Given the description of an element on the screen output the (x, y) to click on. 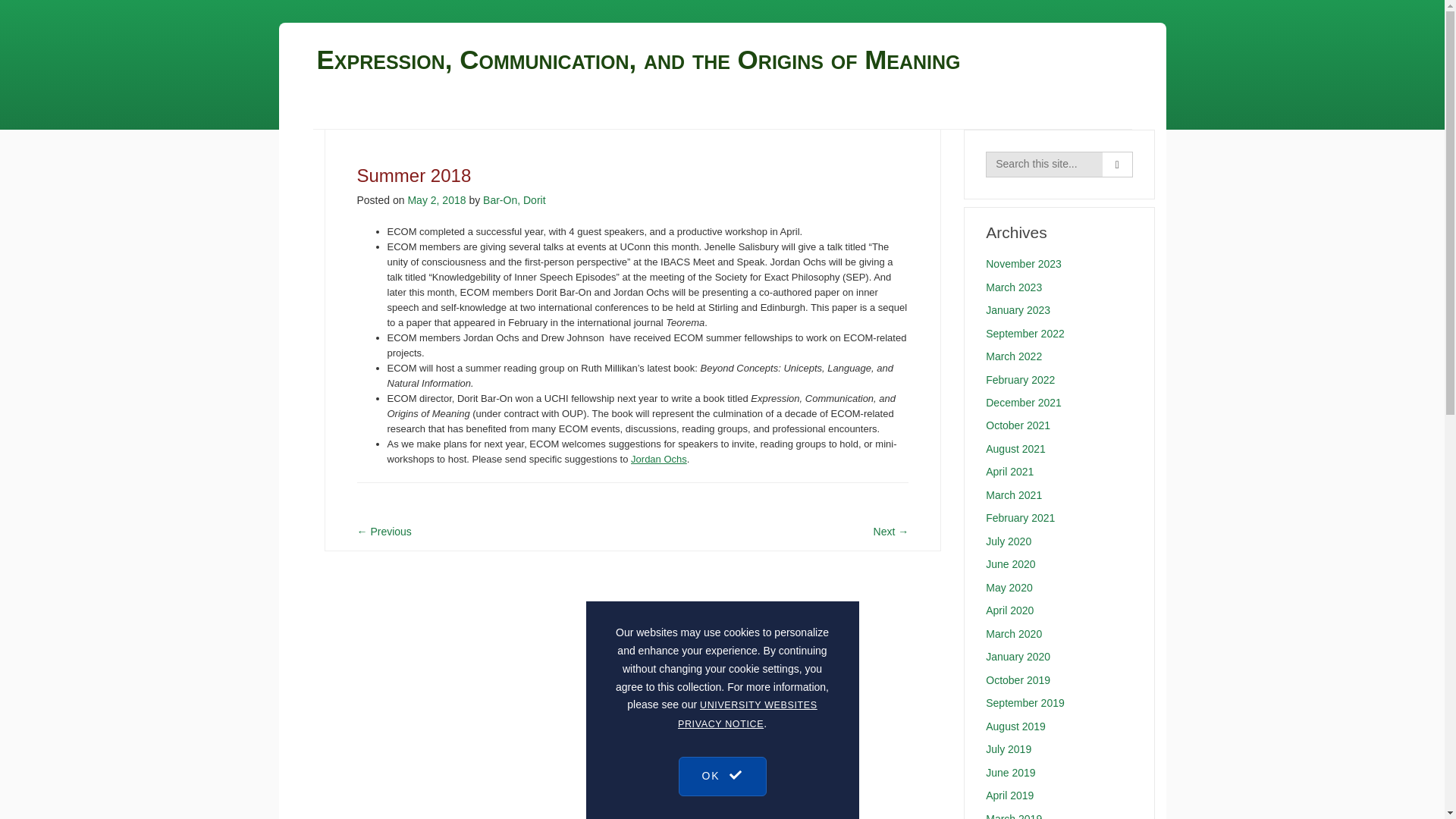
Search this site...  (1044, 164)
Research (576, 109)
Support (647, 109)
News (448, 109)
Home (333, 109)
Members (387, 109)
Links (704, 109)
Events (505, 109)
Posts by Bar-On, Dorit (513, 200)
